Given the description of an element on the screen output the (x, y) to click on. 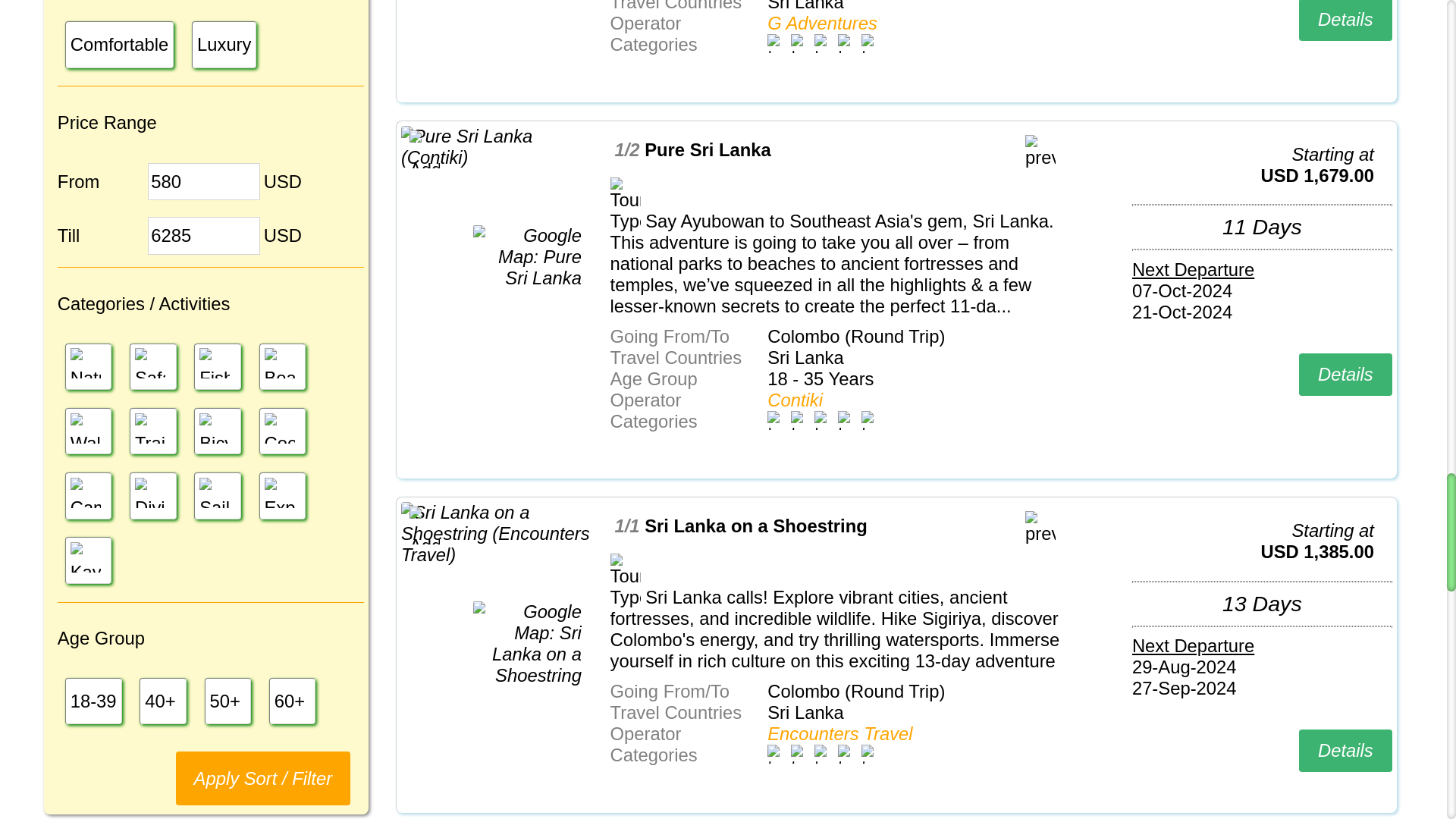
Walking (88, 430)
Fishing (216, 366)
Bicycling (216, 430)
Fishing (214, 363)
Comfortable (119, 44)
Train (152, 430)
580 (204, 181)
Safari, wildlife (150, 363)
Safari (152, 366)
Luxury (224, 44)
6285 (204, 235)
Train, Public Transportation (150, 428)
Walking, Trekking (84, 428)
Boat (282, 366)
Nature (88, 366)
